Given the description of an element on the screen output the (x, y) to click on. 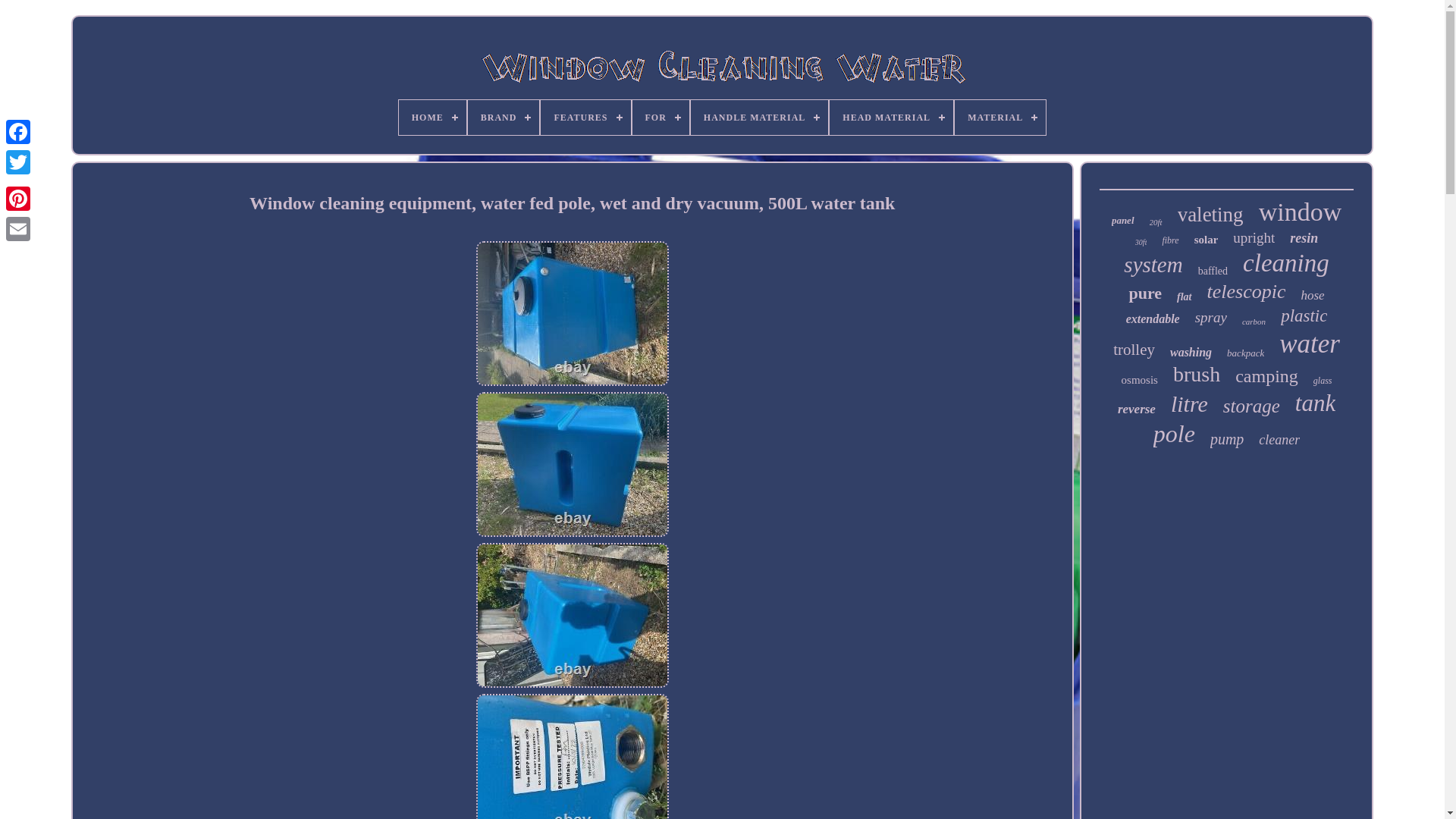
BRAND (503, 117)
FEATURES (585, 117)
HOME (431, 117)
